Given the description of an element on the screen output the (x, y) to click on. 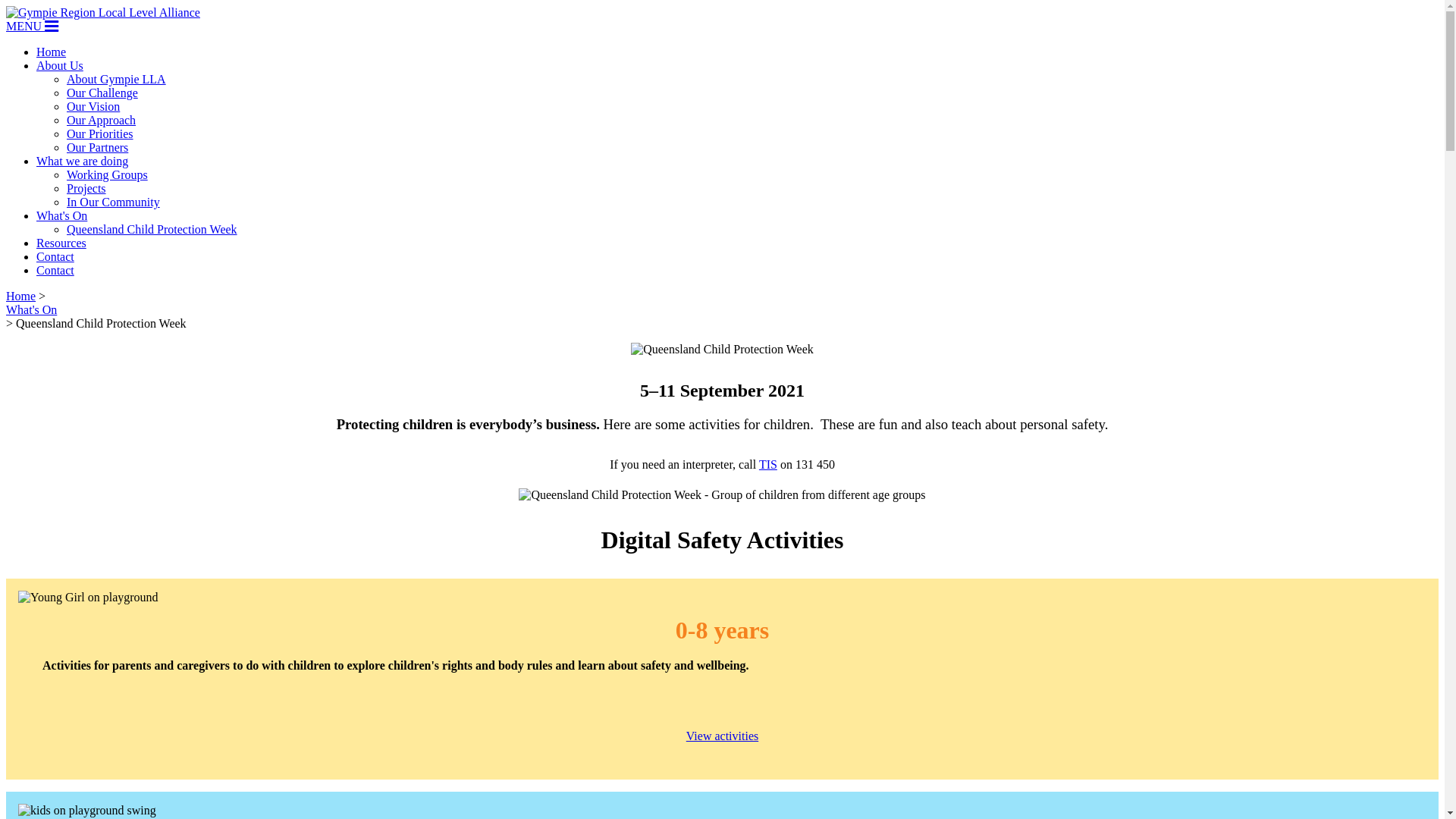
Home Element type: text (50, 51)
What we are doing Element type: text (82, 160)
Resources Element type: text (61, 242)
Gympie Region Local Level Alliance Element type: hover (103, 12)
Queensland Child Protection Week Element type: text (151, 228)
Gympie Region Local Level Alliance Element type: hover (103, 12)
About Us Element type: text (59, 65)
View activities Element type: text (722, 735)
Our Vision Element type: text (92, 106)
Our Challenge Element type: text (102, 92)
Home Element type: text (20, 295)
MENU Element type: text (32, 25)
What's On Element type: text (31, 309)
In Our Community Element type: text (113, 201)
About Gympie LLA Element type: text (116, 78)
Projects Element type: text (86, 188)
Our Priorities Element type: text (99, 133)
What's On Element type: text (61, 215)
TIS Element type: text (768, 464)
Our Partners Element type: text (97, 147)
Contact Element type: text (55, 256)
Contact Element type: text (55, 269)
Working Groups Element type: text (106, 174)
Our Approach Element type: text (100, 119)
